Given the description of an element on the screen output the (x, y) to click on. 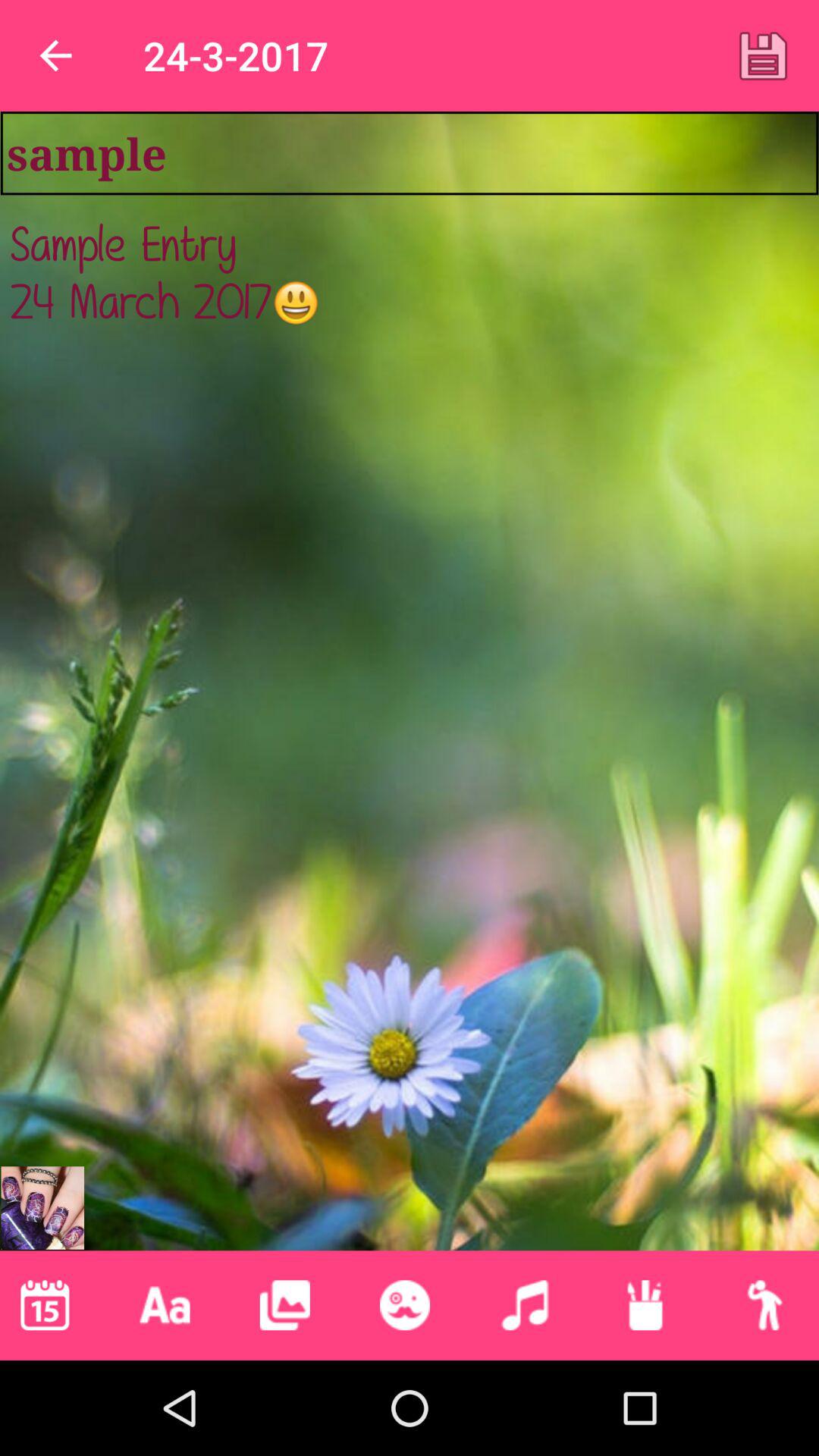
navigate music (524, 1305)
